Given the description of an element on the screen output the (x, y) to click on. 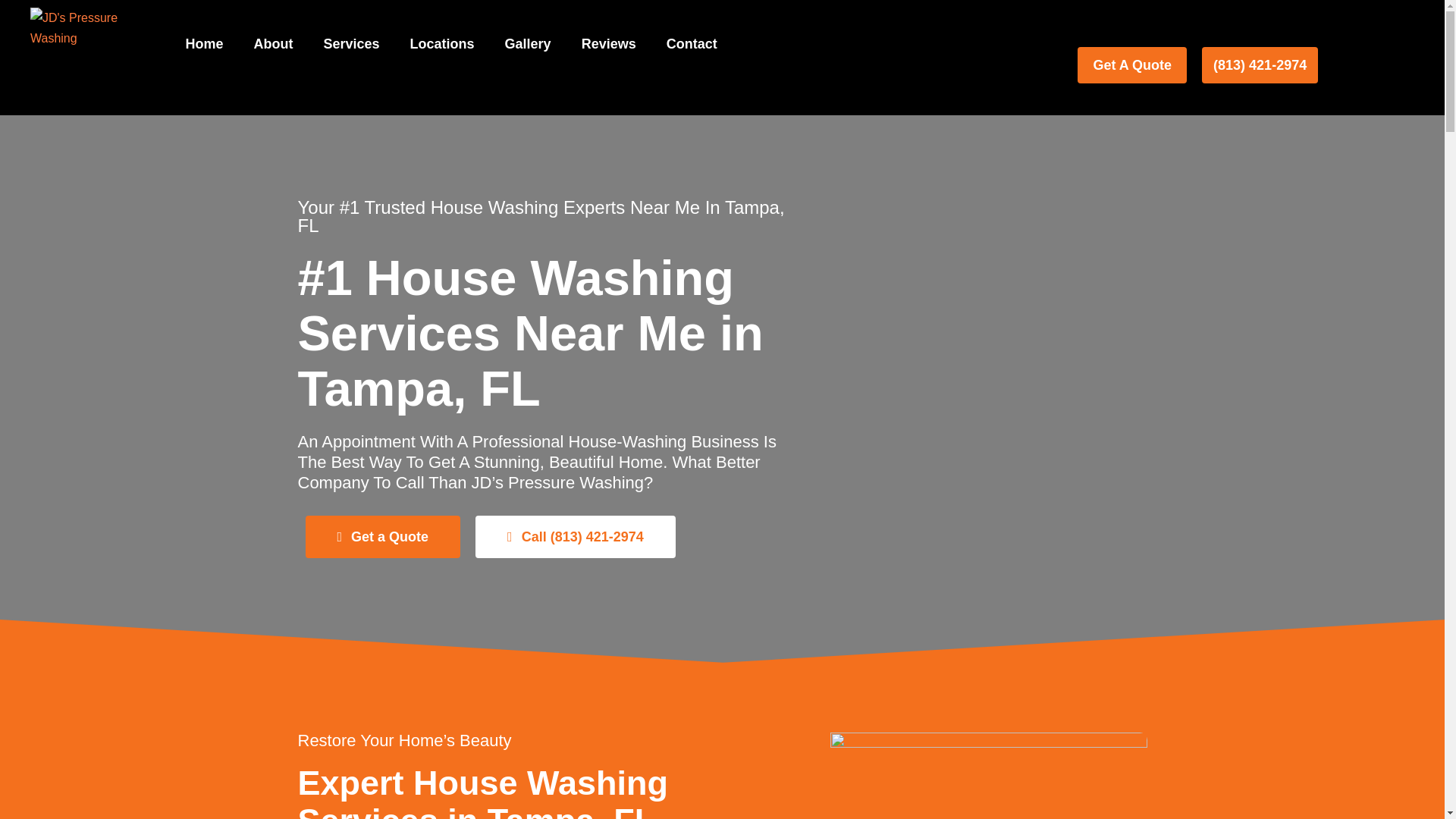
Reviews (608, 43)
About (273, 43)
Locations (441, 43)
Home (204, 43)
Gallery (527, 43)
Contact (691, 43)
Services (350, 43)
